Given the description of an element on the screen output the (x, y) to click on. 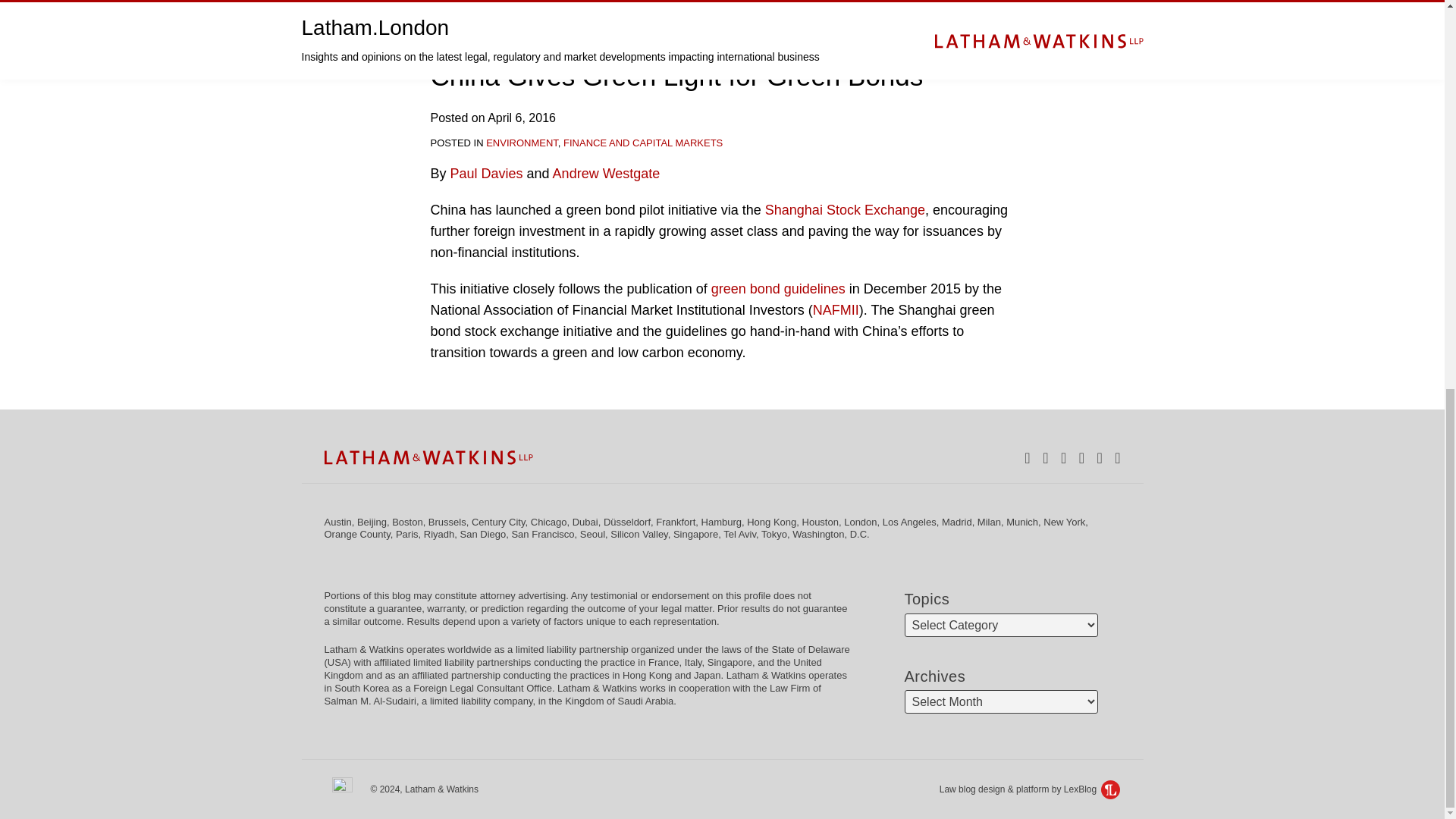
Andrew Westgate (607, 173)
Century City (498, 521)
green bond guidelines (778, 288)
FINANCE AND CAPITAL MARKETS (642, 142)
Austin (338, 521)
LexBlog Logo (1109, 789)
Shanghai Stock Exchange (844, 209)
Brussels (446, 521)
China Gives Green Light for Green Bonds (676, 75)
Beijing (371, 521)
